Given the description of an element on the screen output the (x, y) to click on. 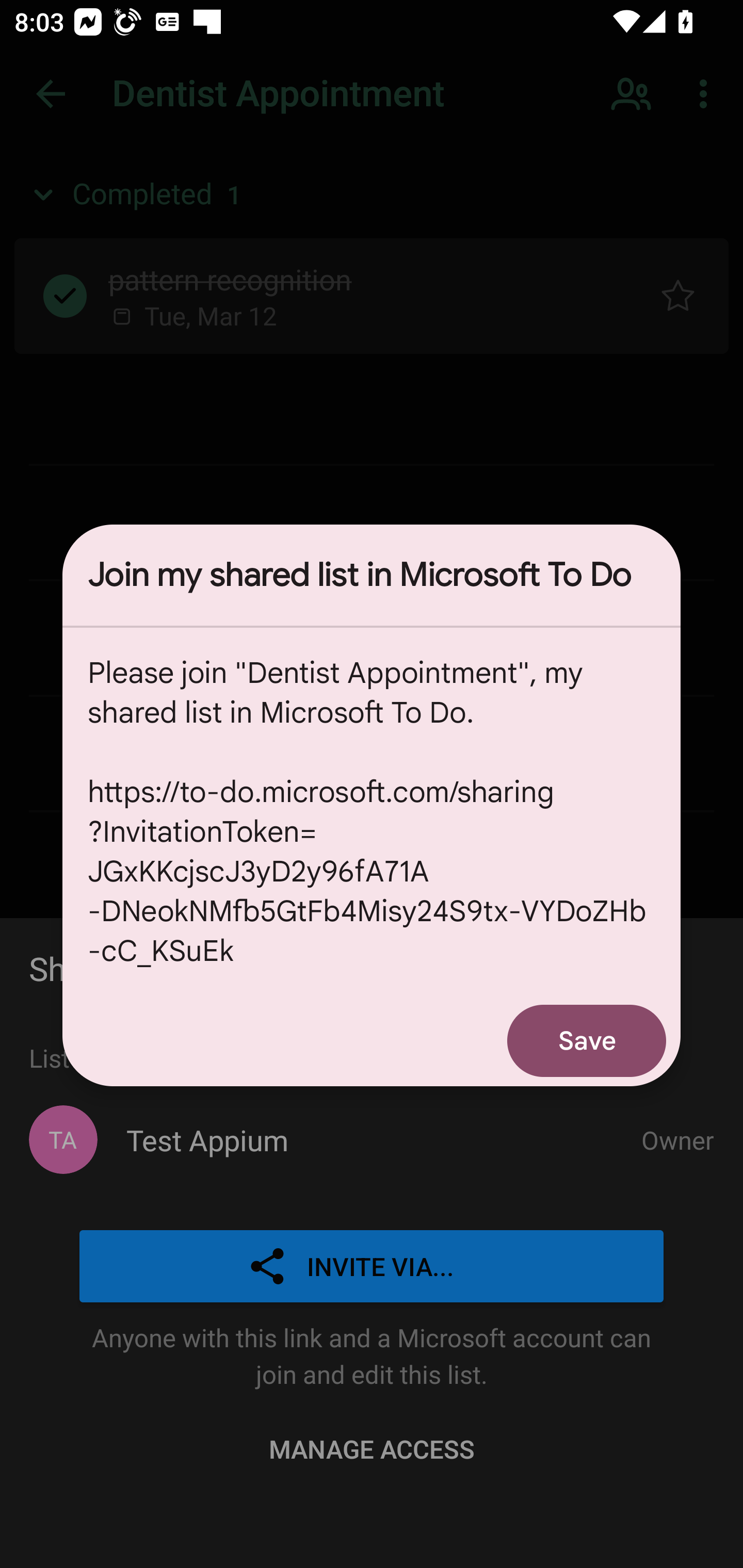
Join my shared list in Microsoft To Do (371, 575)
Save (586, 1040)
